Given the description of an element on the screen output the (x, y) to click on. 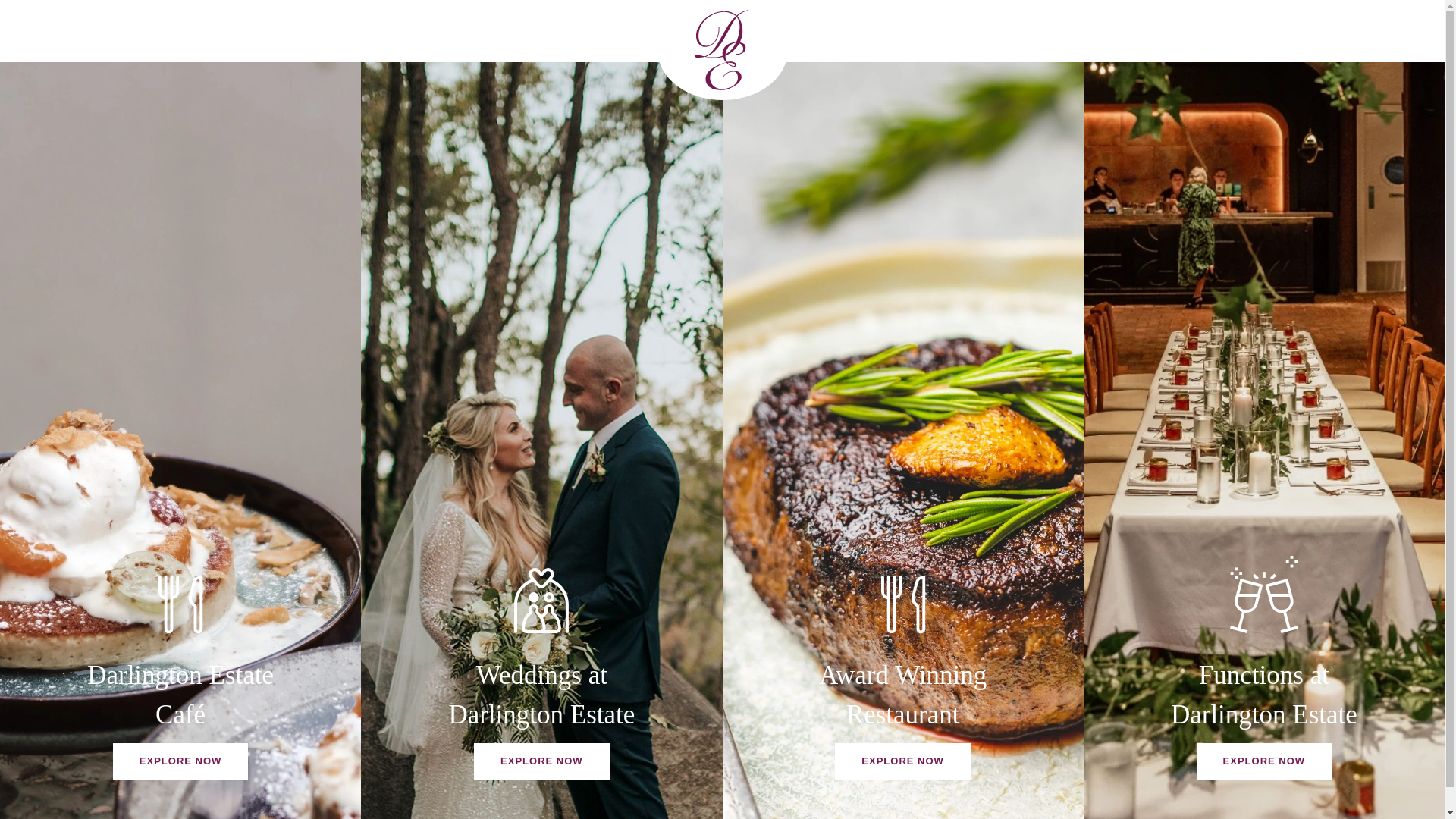
EXPLORE NOW Element type: text (902, 761)
EXPLORE NOW Element type: text (1264, 761)
darlington-logo Element type: hover (721, 50)
EXPLORE NOW Element type: text (541, 761)
EXPLORE NOW Element type: text (180, 761)
